Given the description of an element on the screen output the (x, y) to click on. 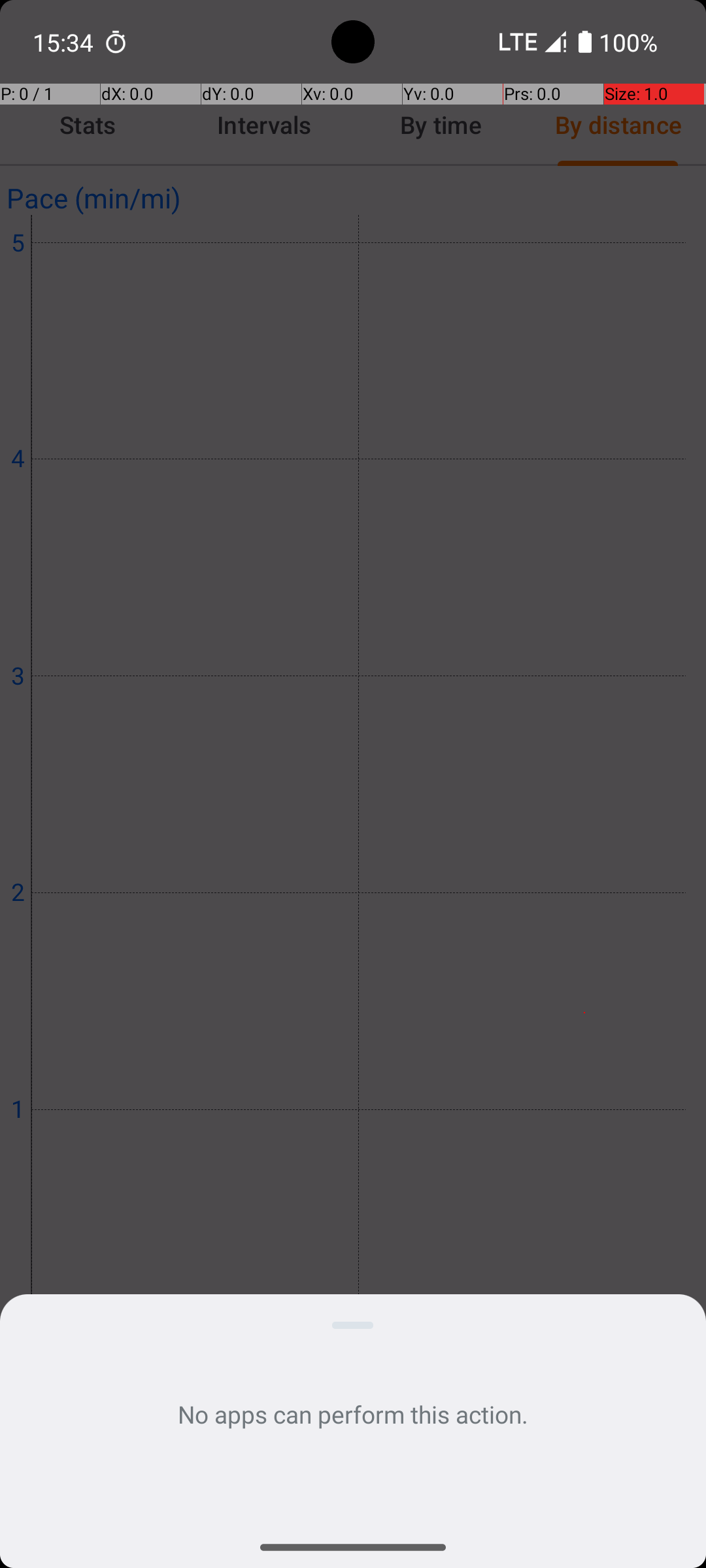
No apps can perform this action. Element type: android.widget.TextView (352, 1413)
